Given the description of an element on the screen output the (x, y) to click on. 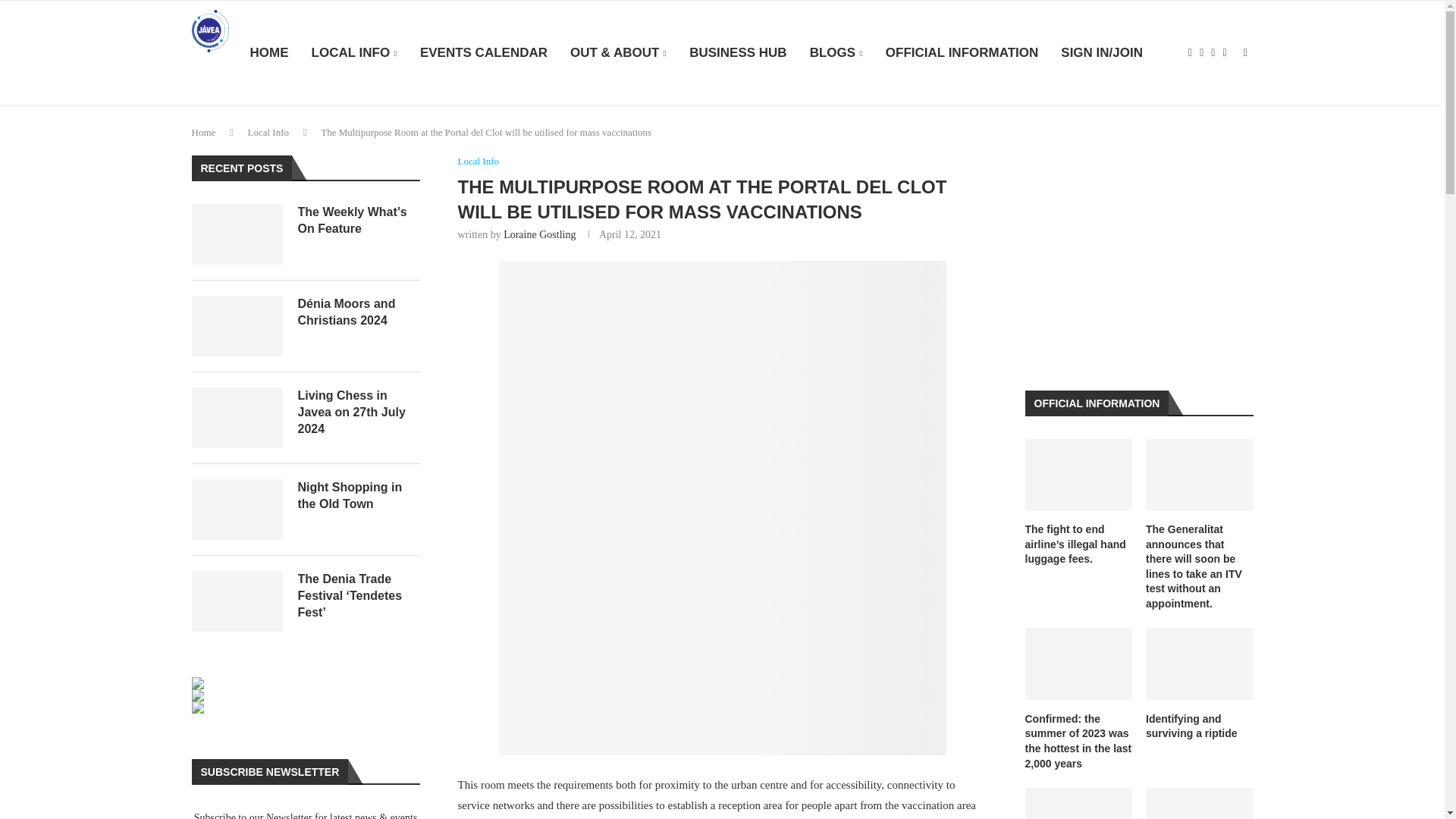
Local Info (268, 132)
Loraine Gostling (539, 234)
Local Info (478, 161)
EVENTS CALENDAR (483, 53)
BUSINESS HUB (737, 53)
Home (202, 132)
OFFICIAL INFORMATION (961, 53)
